Given the description of an element on the screen output the (x, y) to click on. 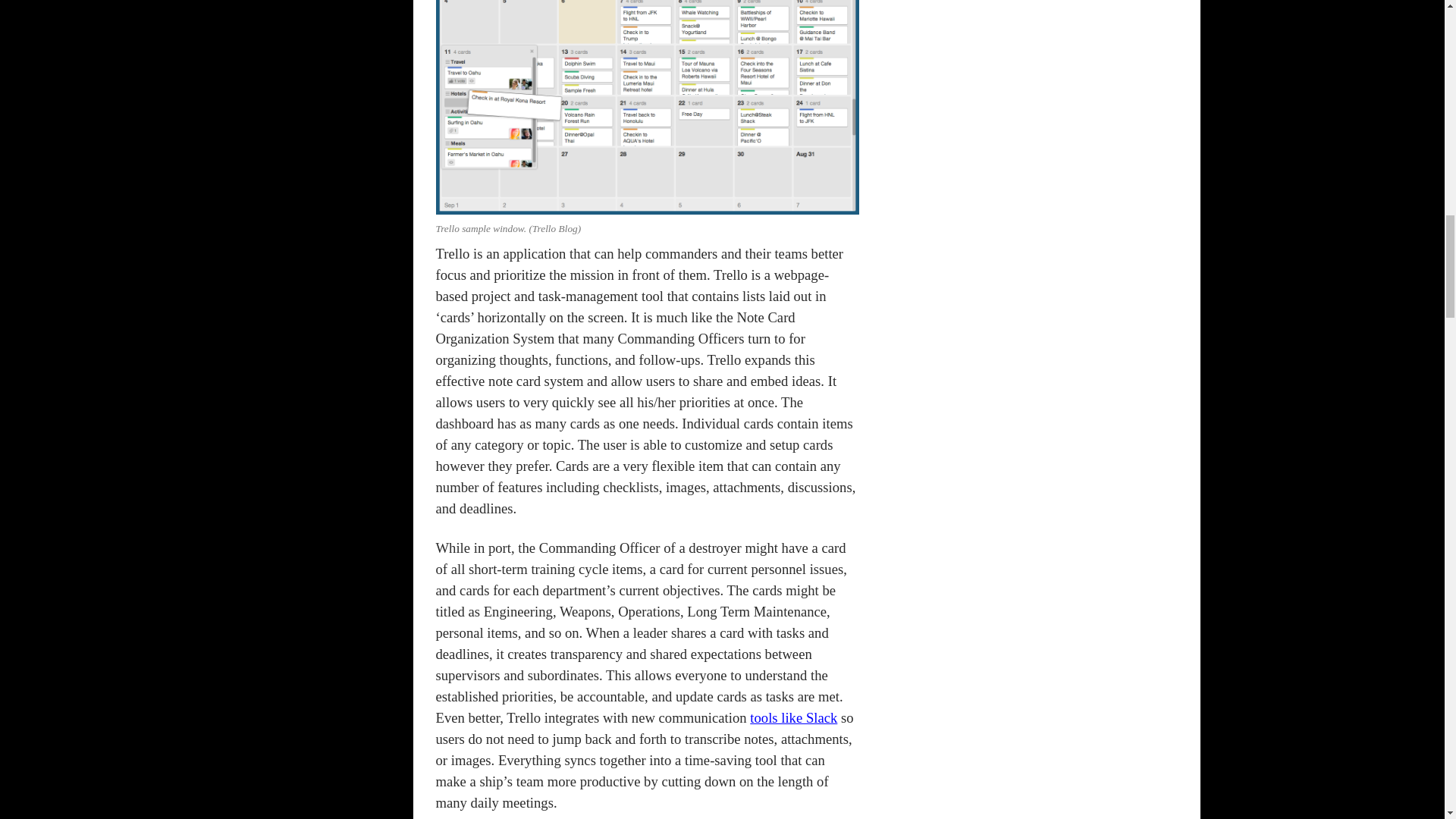
tools like Slack (793, 717)
